Given the description of an element on the screen output the (x, y) to click on. 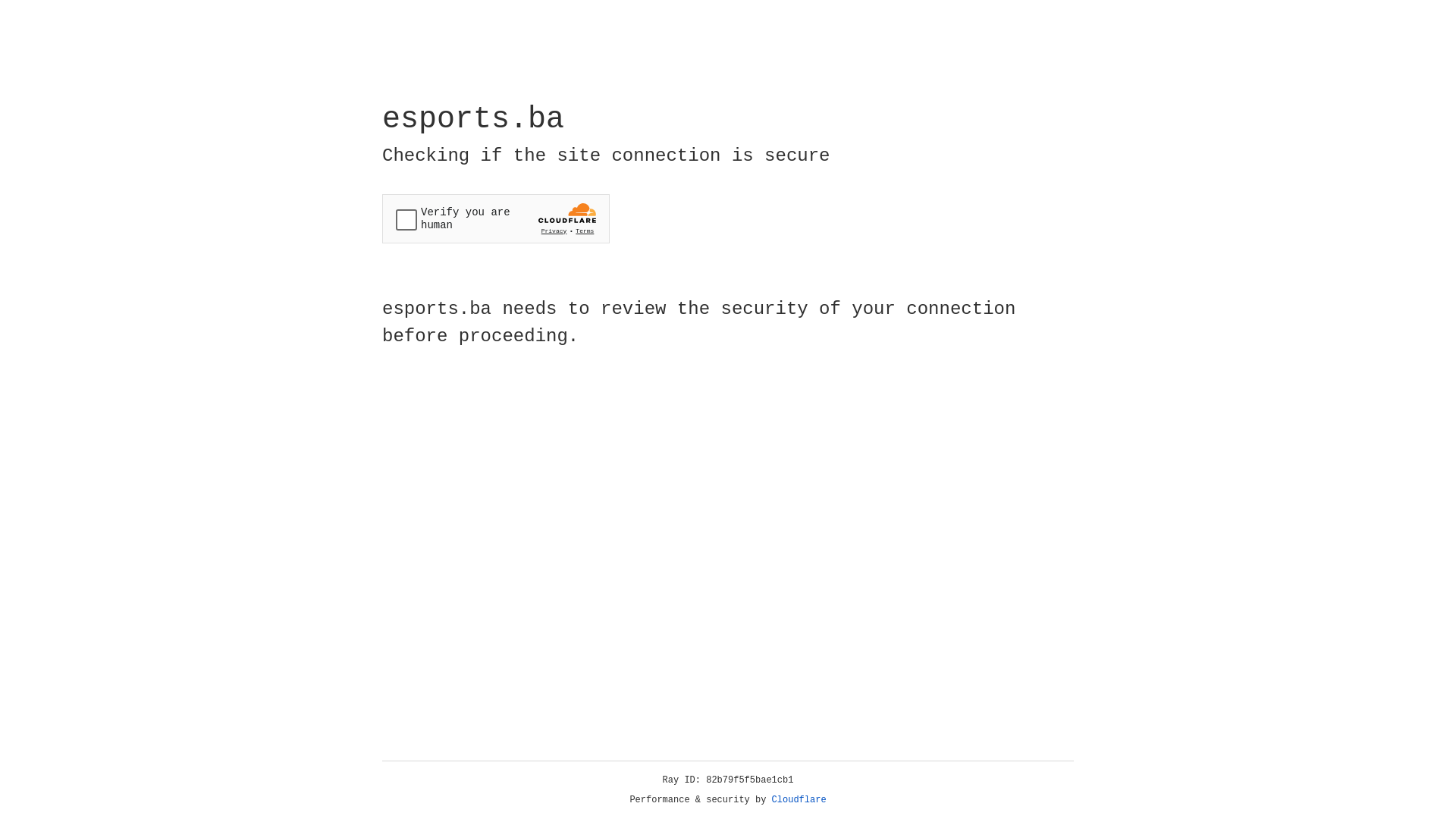
Cloudflare Element type: text (798, 799)
Widget containing a Cloudflare security challenge Element type: hover (495, 218)
